Given the description of an element on the screen output the (x, y) to click on. 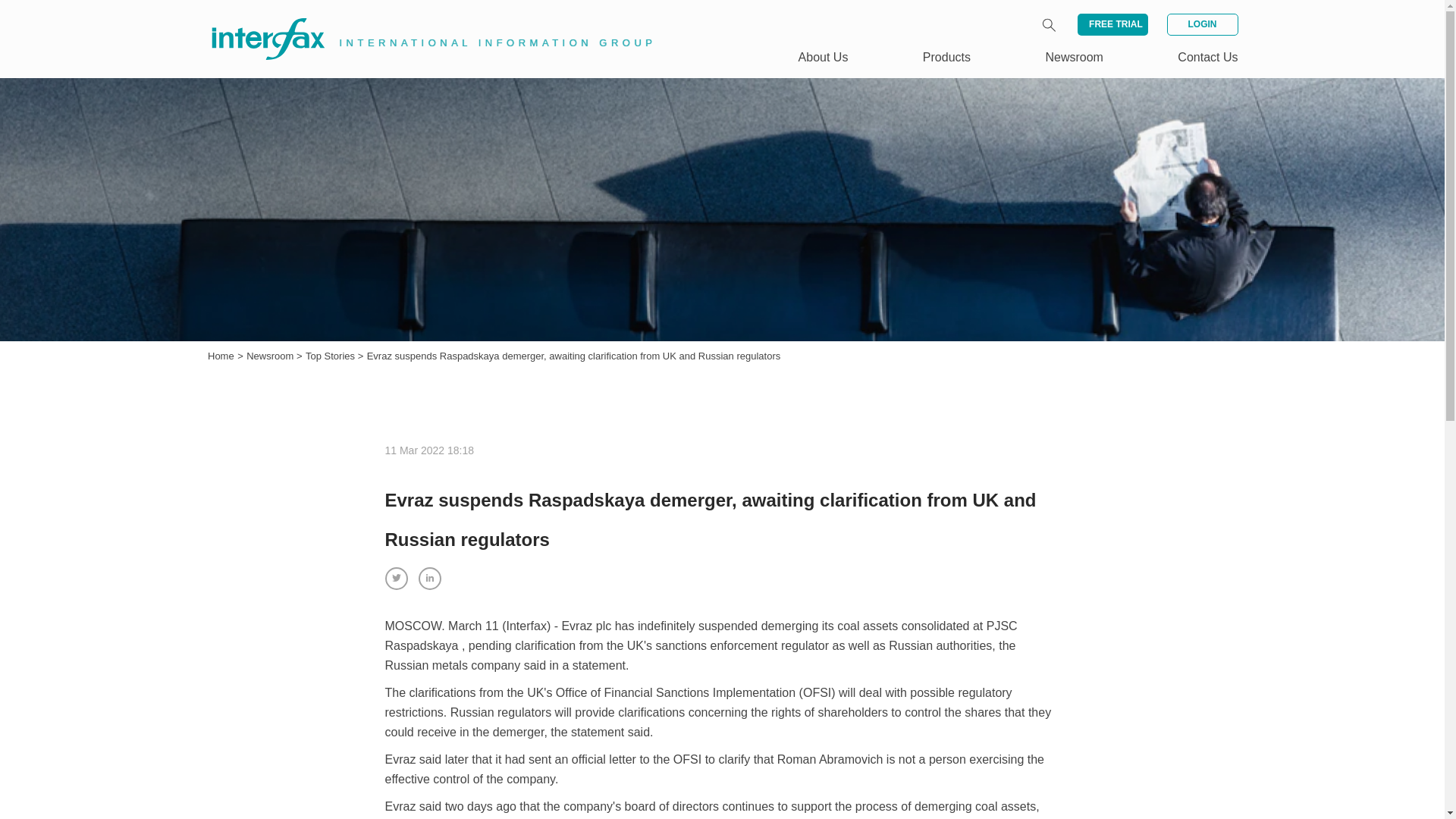
Newsroom (1073, 56)
Newsroom (271, 355)
Top Stories (331, 355)
INTERNATIONAL INFORMATION GROUP (421, 20)
About Us (822, 56)
Contact Us (1207, 56)
Home (221, 355)
Contact Us (1207, 56)
LOGIN (1201, 24)
Products (947, 56)
